Given the description of an element on the screen output the (x, y) to click on. 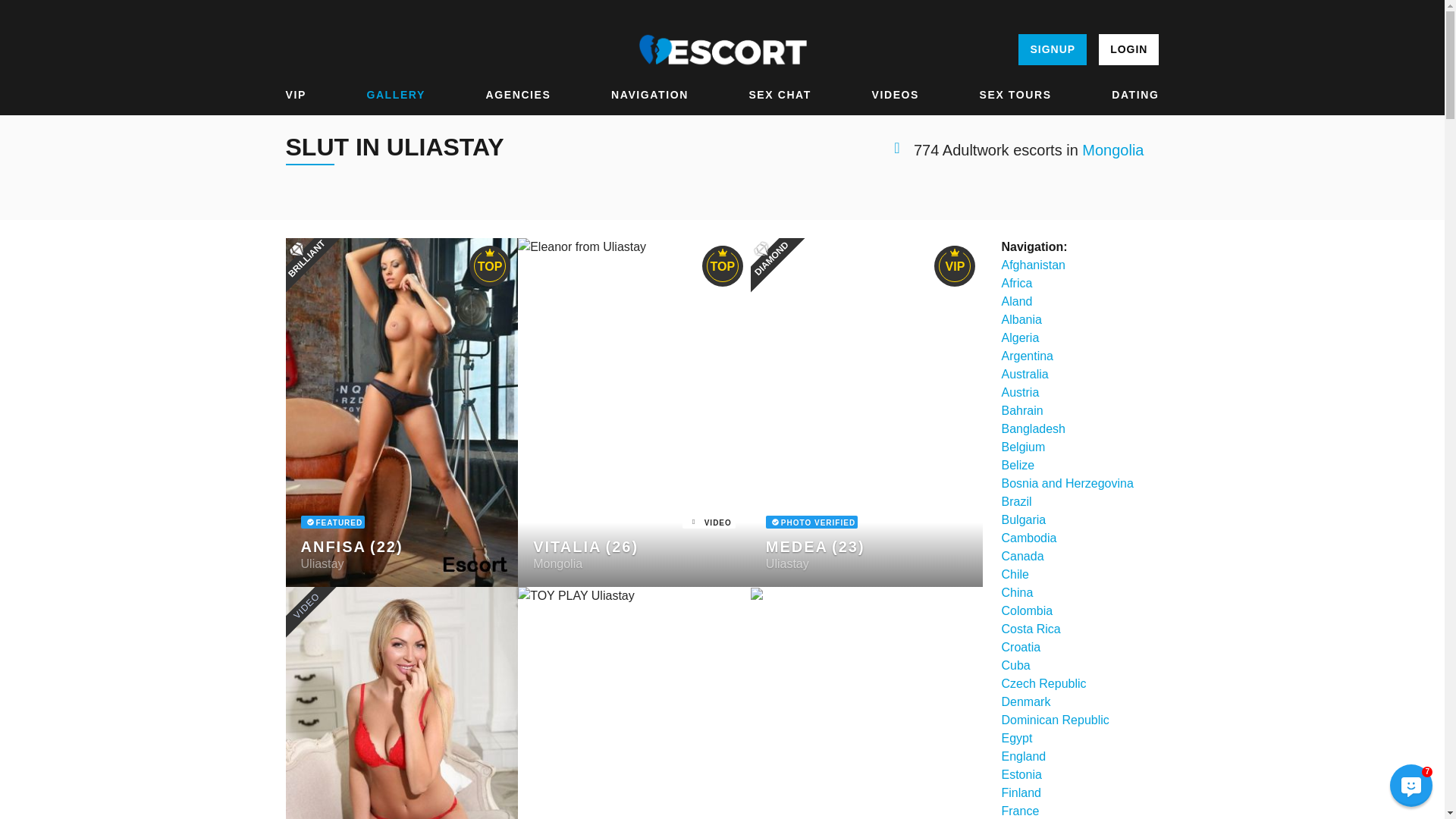
SIGNUP (1051, 49)
SEX TOURS (1015, 94)
DATING (1135, 94)
VIP (295, 94)
SEX CHAT (779, 94)
NAVIGATION (649, 94)
Mongolia (1111, 149)
AGENCIES (518, 94)
VIDEOS (896, 94)
LOGIN (1128, 49)
GALLERY (395, 94)
